Given the description of an element on the screen output the (x, y) to click on. 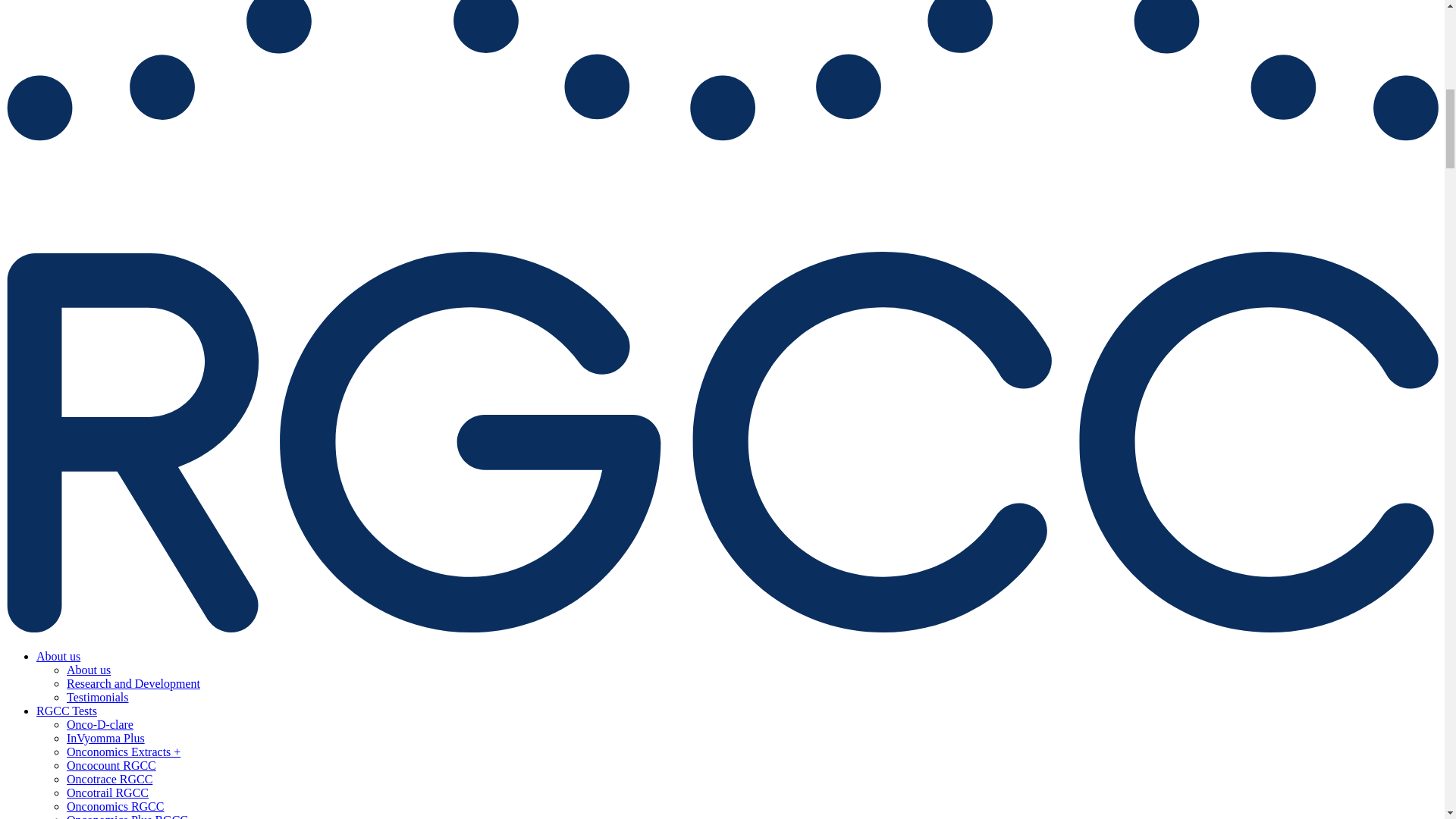
Oncotrace RGCC (109, 779)
About us (58, 656)
RGCC Tests (66, 710)
Onco-D-clare (99, 724)
Onconomics Plus RGCC (126, 816)
About us (88, 669)
Onconomics RGCC (114, 806)
Testimonials (97, 697)
Oncotrail RGCC (107, 792)
Oncocount RGCC (110, 765)
